Given the description of an element on the screen output the (x, y) to click on. 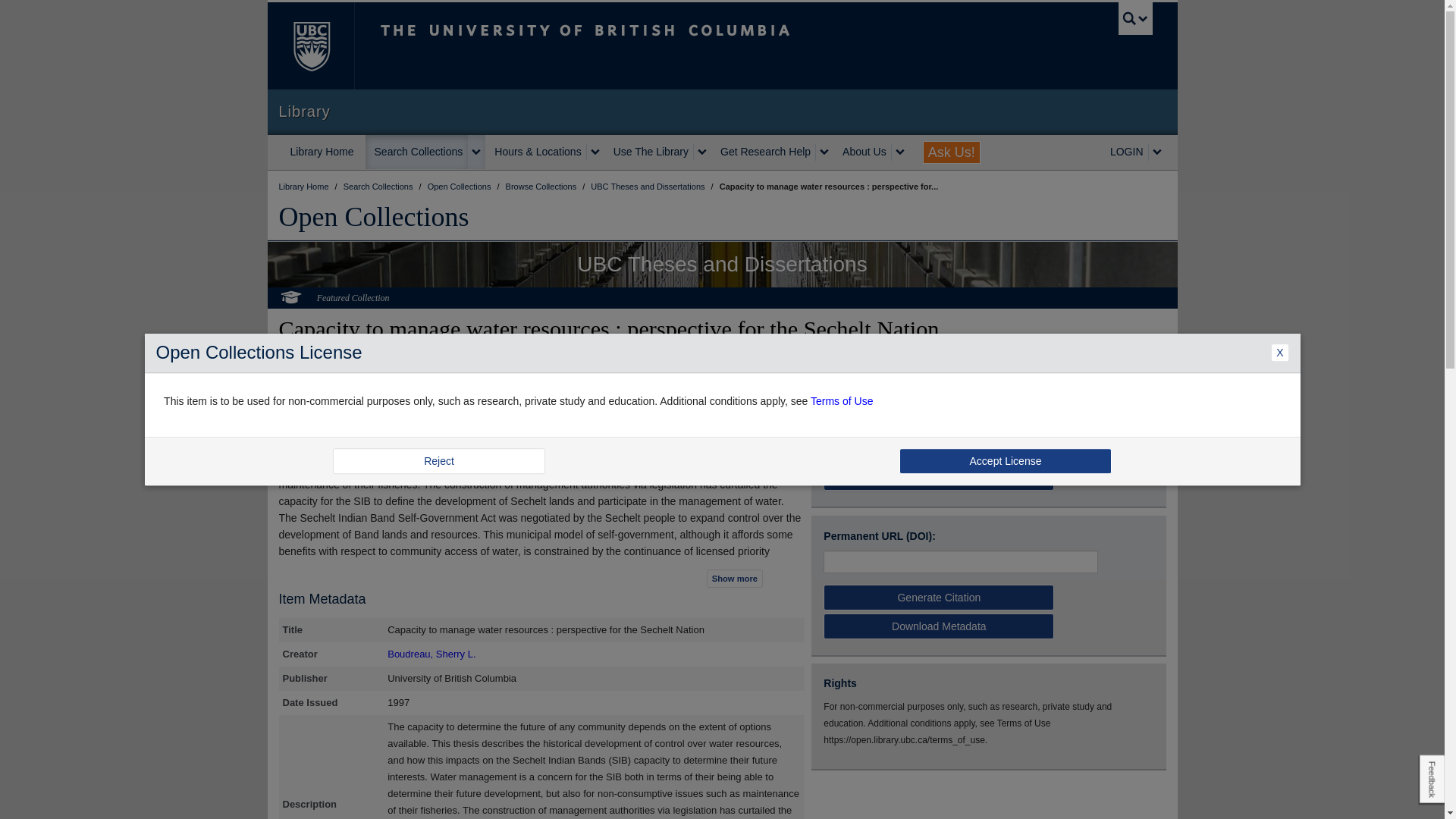
The University of British Columbia (635, 45)
Search Collections (378, 185)
open file (846, 412)
Open Collections (373, 216)
The University of British Columbia (309, 45)
Library (722, 111)
Browse Collections (542, 185)
Library Home (322, 151)
Search Collections (416, 151)
UBC Search (1135, 18)
UBC Library (305, 185)
Open Collections (460, 185)
